Given the description of an element on the screen output the (x, y) to click on. 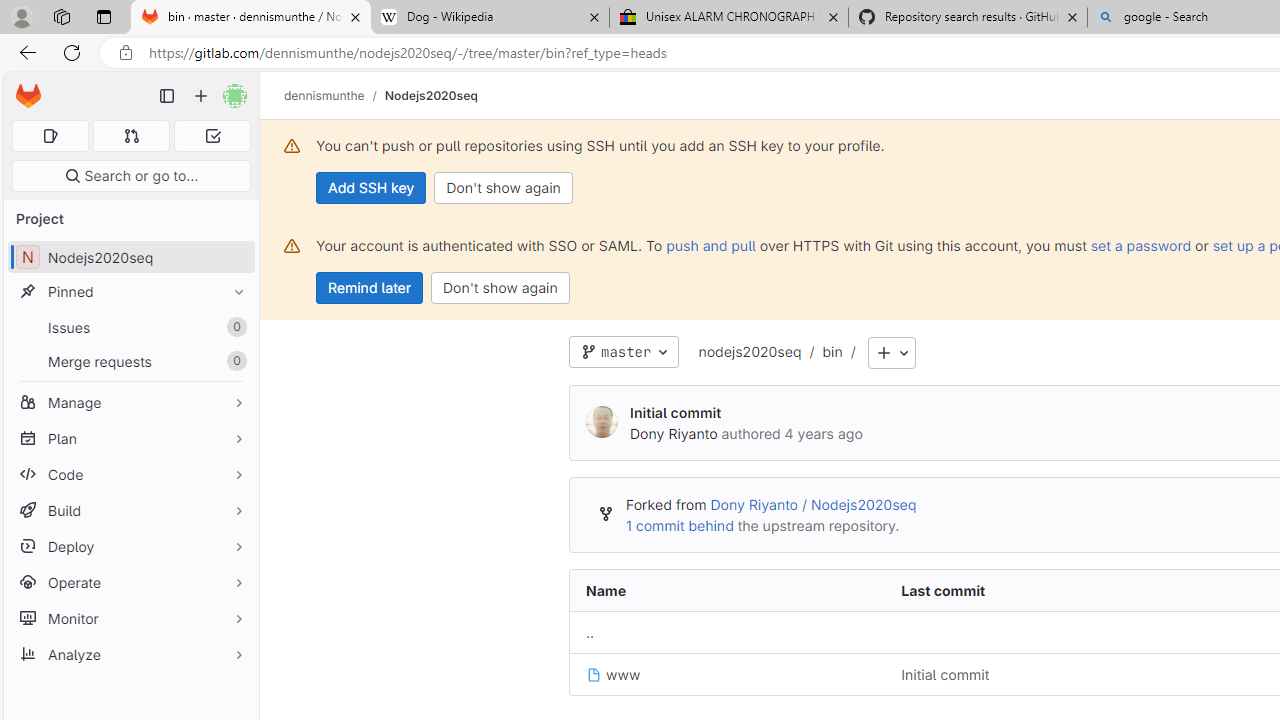
Assigned issues 0 (50, 136)
Issues0 (130, 327)
Class: s16 position-relative file-icon (593, 675)
Analyze (130, 654)
Merge requests0 (130, 361)
Create new... (201, 96)
www (727, 674)
Unpin Issues (234, 327)
Build (130, 510)
nodejs2020seq (749, 351)
Plan (130, 438)
